Given the description of an element on the screen output the (x, y) to click on. 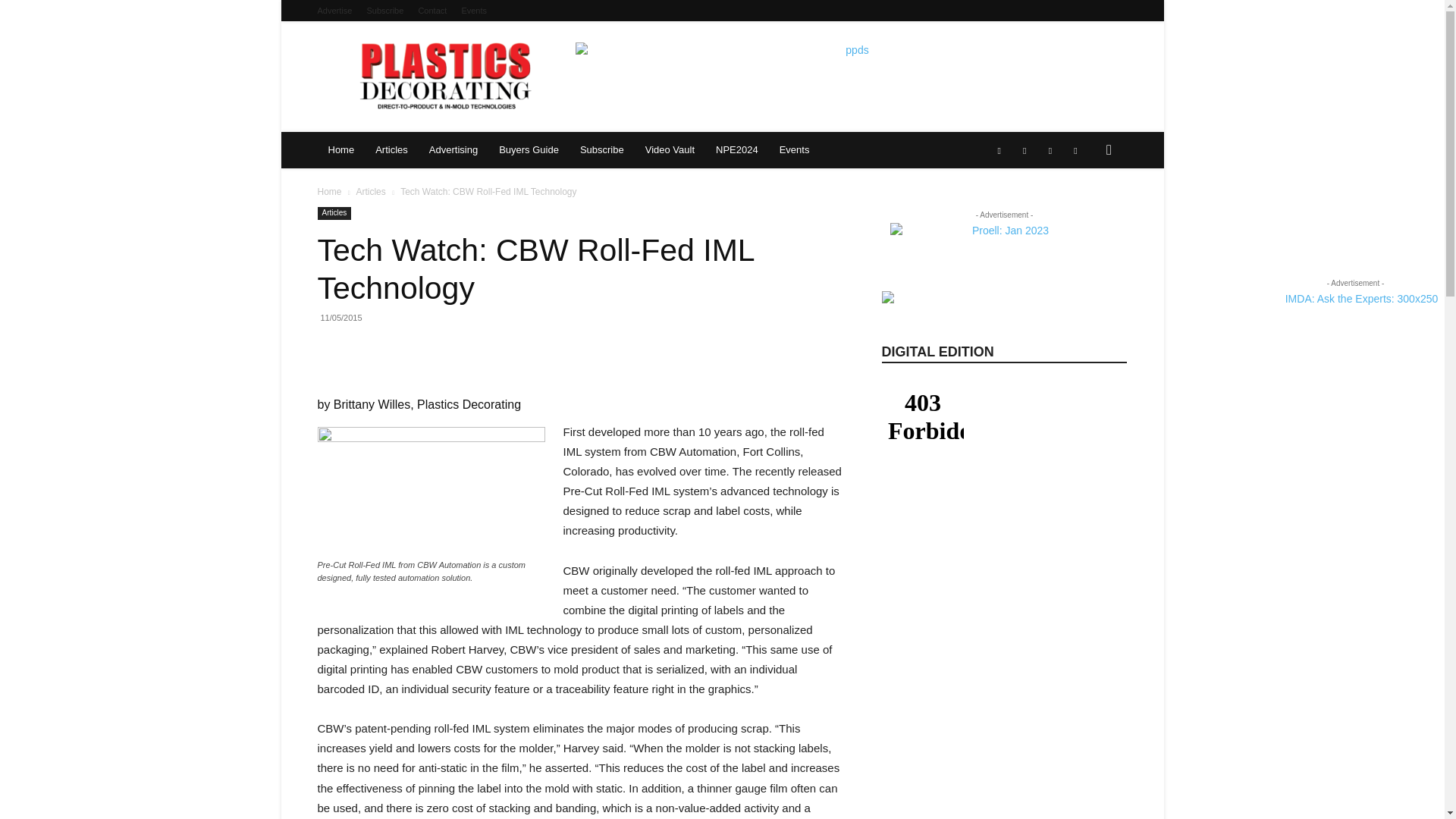
Home (341, 149)
Subscribe (384, 10)
Plastics Decorating Magazine (446, 76)
Advertise (334, 10)
Events (473, 10)
View all posts in Articles (370, 191)
Articles (392, 149)
Contact (431, 10)
